Given the description of an element on the screen output the (x, y) to click on. 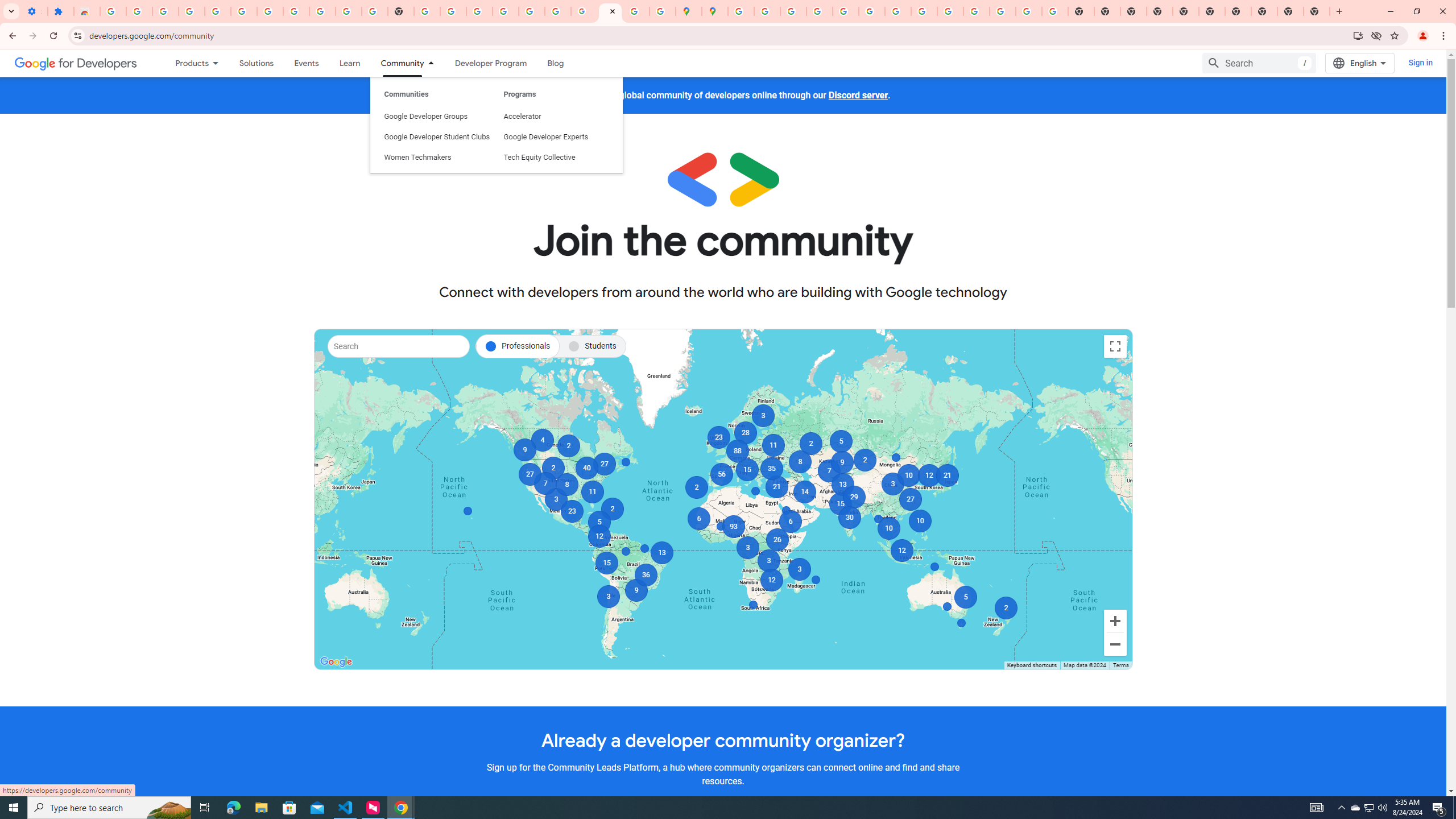
Blog (556, 62)
New Tab (1316, 11)
English (1359, 63)
Settings - On startup (34, 11)
Women Techmakers (437, 104)
Open this area in Google Maps (opens a new window) (336, 661)
Google Developer Student Clubs (437, 84)
12 (599, 535)
Zoom out (1114, 644)
Sign in - Google Accounts (269, 11)
36 (646, 574)
Delete photos & videos - Computer - Google Photos Help (191, 11)
